Given the description of an element on the screen output the (x, y) to click on. 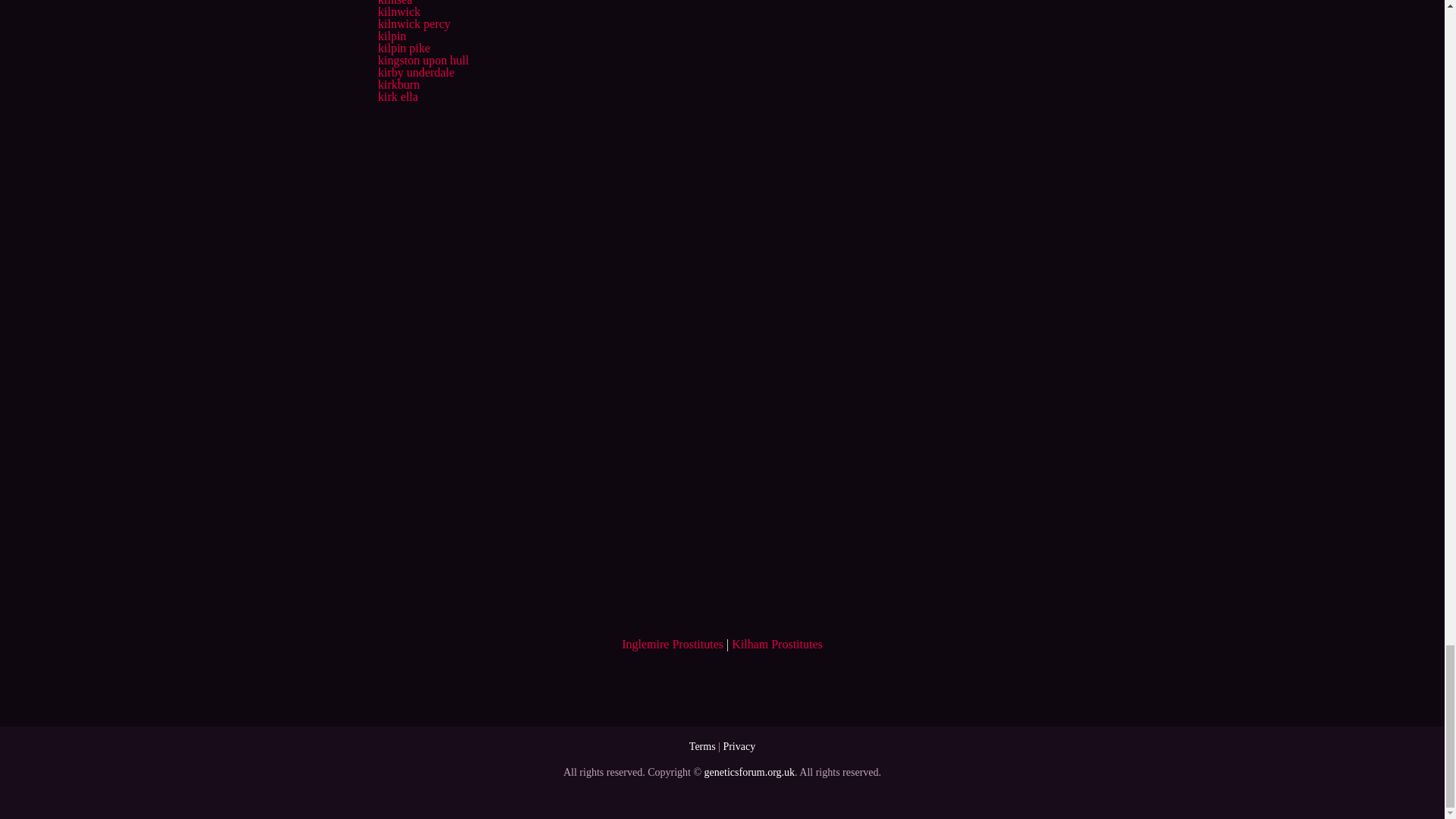
Kilham Prostitutes (777, 644)
kilpin pike (403, 47)
kilnwick (398, 11)
Terms (702, 746)
kirkburn (398, 83)
kilnwick percy (413, 23)
geneticsforum.org.uk (749, 772)
kingston upon hull (422, 60)
Terms (702, 746)
kilpin (391, 35)
